Given the description of an element on the screen output the (x, y) to click on. 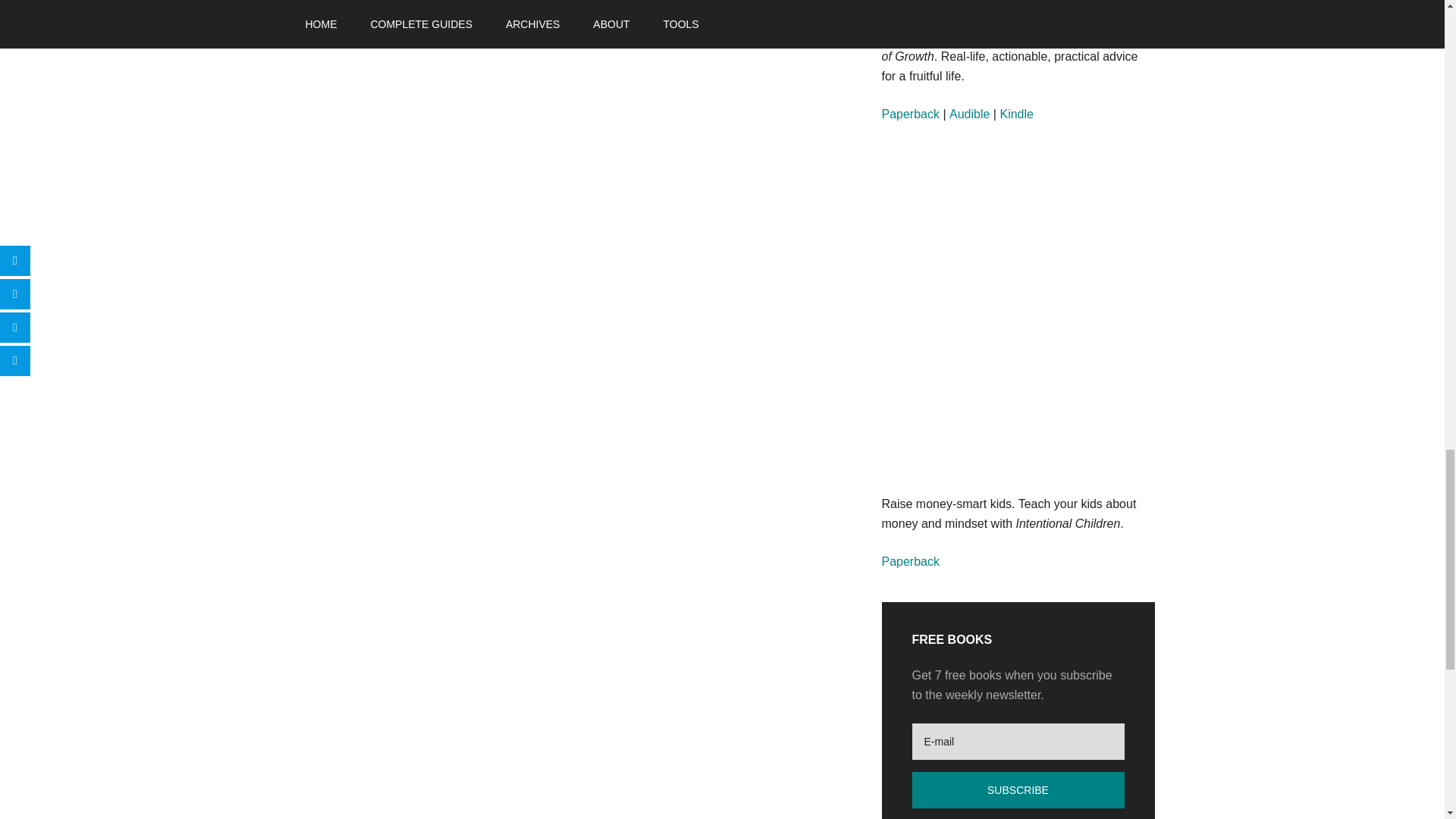
Subscribe (1017, 790)
